Given the description of an element on the screen output the (x, y) to click on. 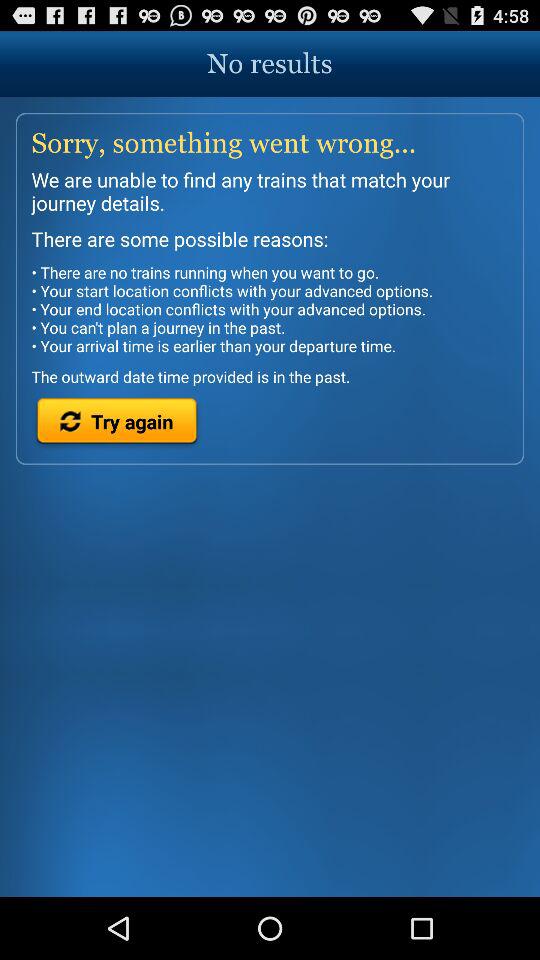
turn off icon on the left (116, 423)
